Given the description of an element on the screen output the (x, y) to click on. 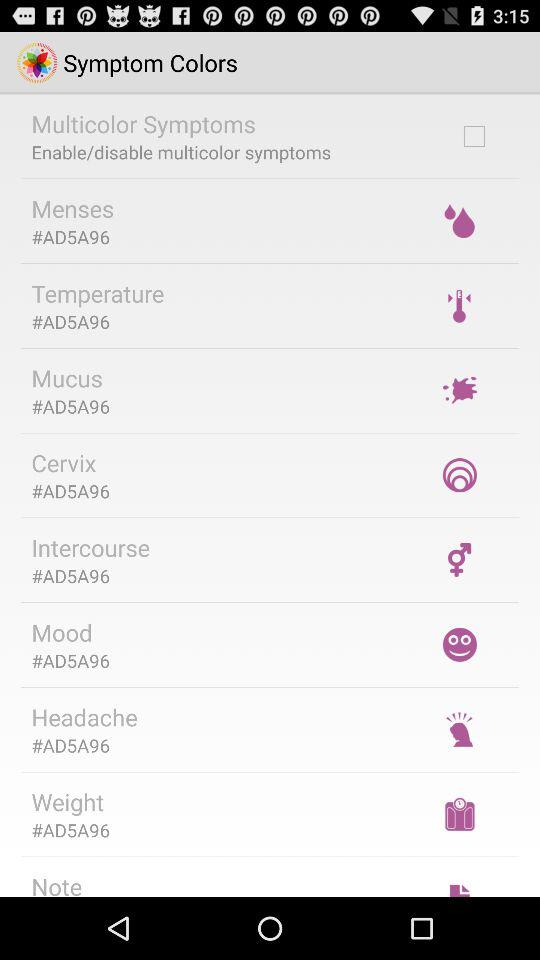
tap icon next to the enable disable multicolor (474, 136)
